Given the description of an element on the screen output the (x, y) to click on. 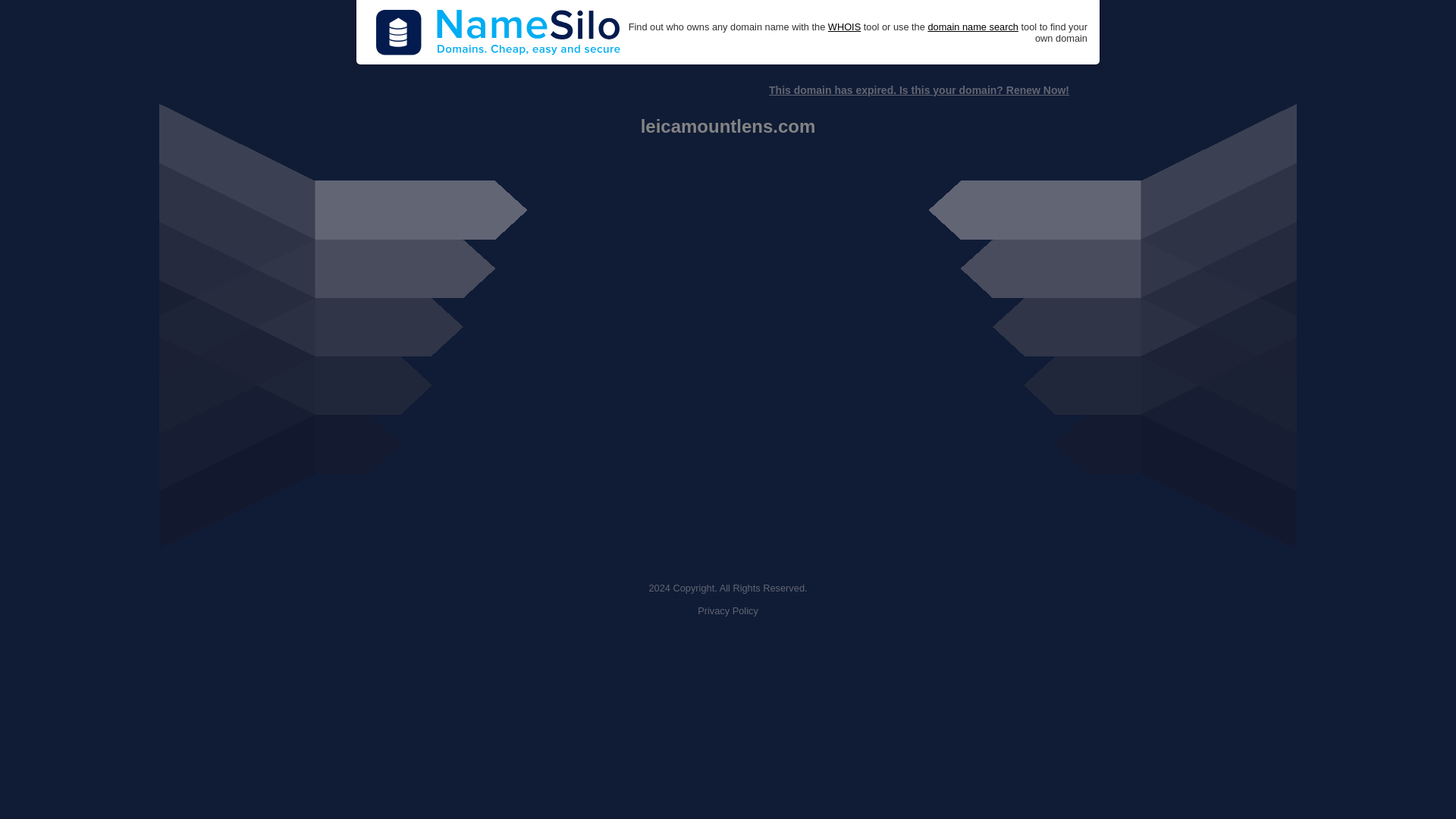
This domain has expired. Is this your domain? Renew Now! (918, 90)
domain name search (972, 26)
Privacy Policy (727, 610)
WHOIS (844, 26)
